Given the description of an element on the screen output the (x, y) to click on. 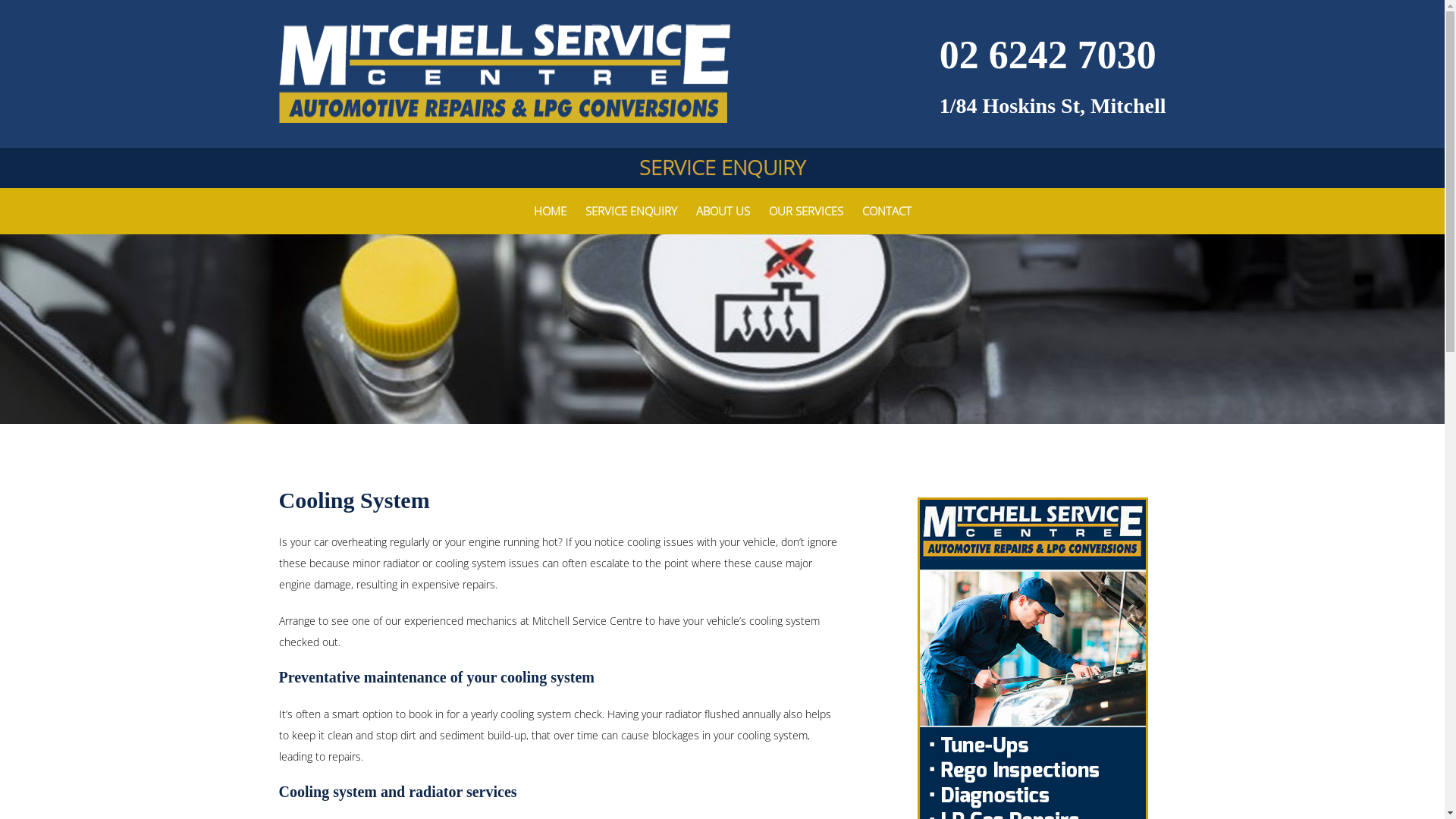
ABOUT US Element type: text (722, 210)
CONTACT Element type: text (885, 210)
OUR SERVICES Element type: text (805, 210)
HOME Element type: text (549, 210)
SERVICE ENQUIRY Element type: text (631, 210)
02 6242 7030 Element type: text (1047, 54)
SERVICE ENQUIRY Element type: text (722, 167)
